Given the description of an element on the screen output the (x, y) to click on. 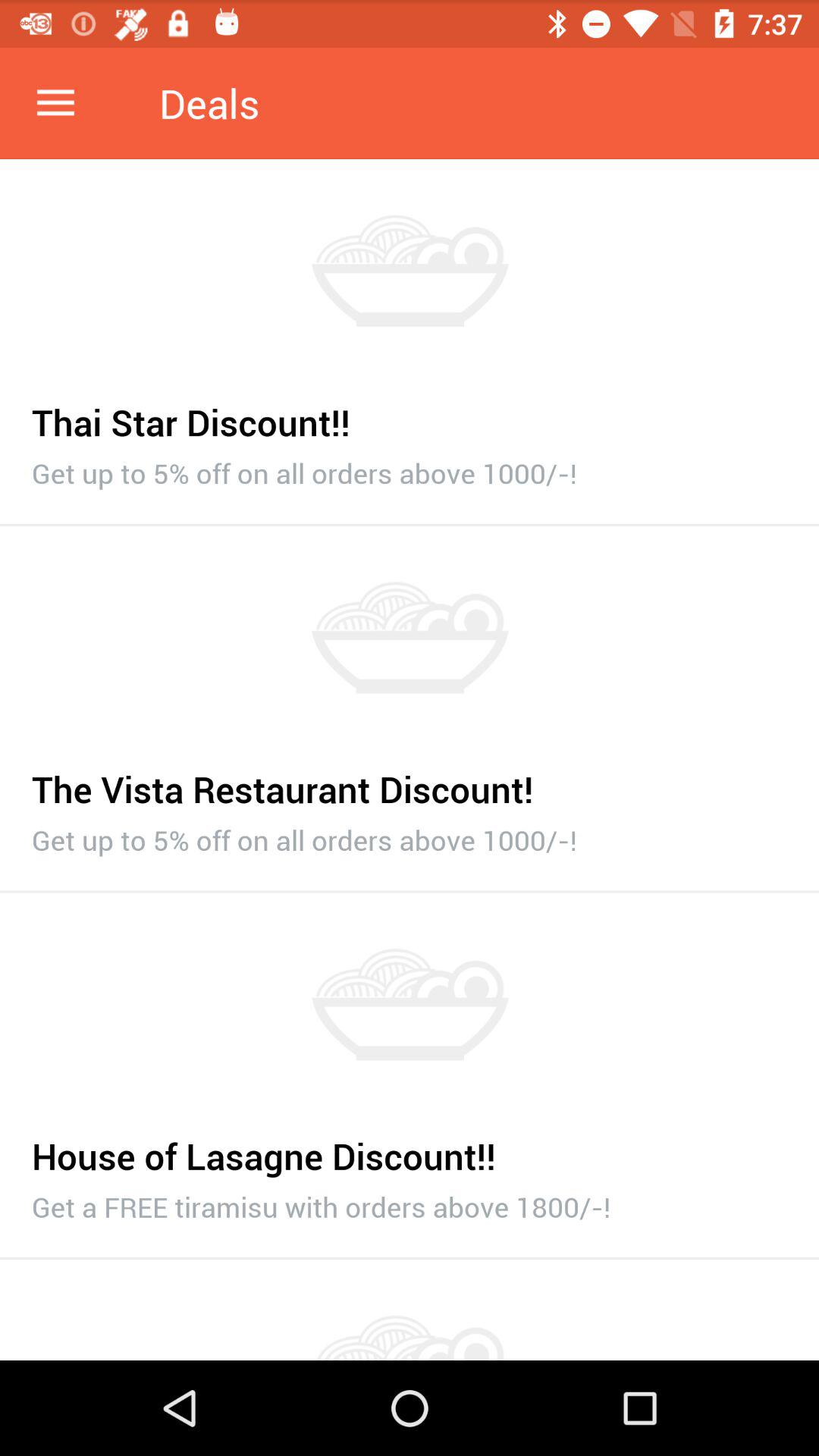
jump to house of lasagne item (409, 1147)
